Given the description of an element on the screen output the (x, y) to click on. 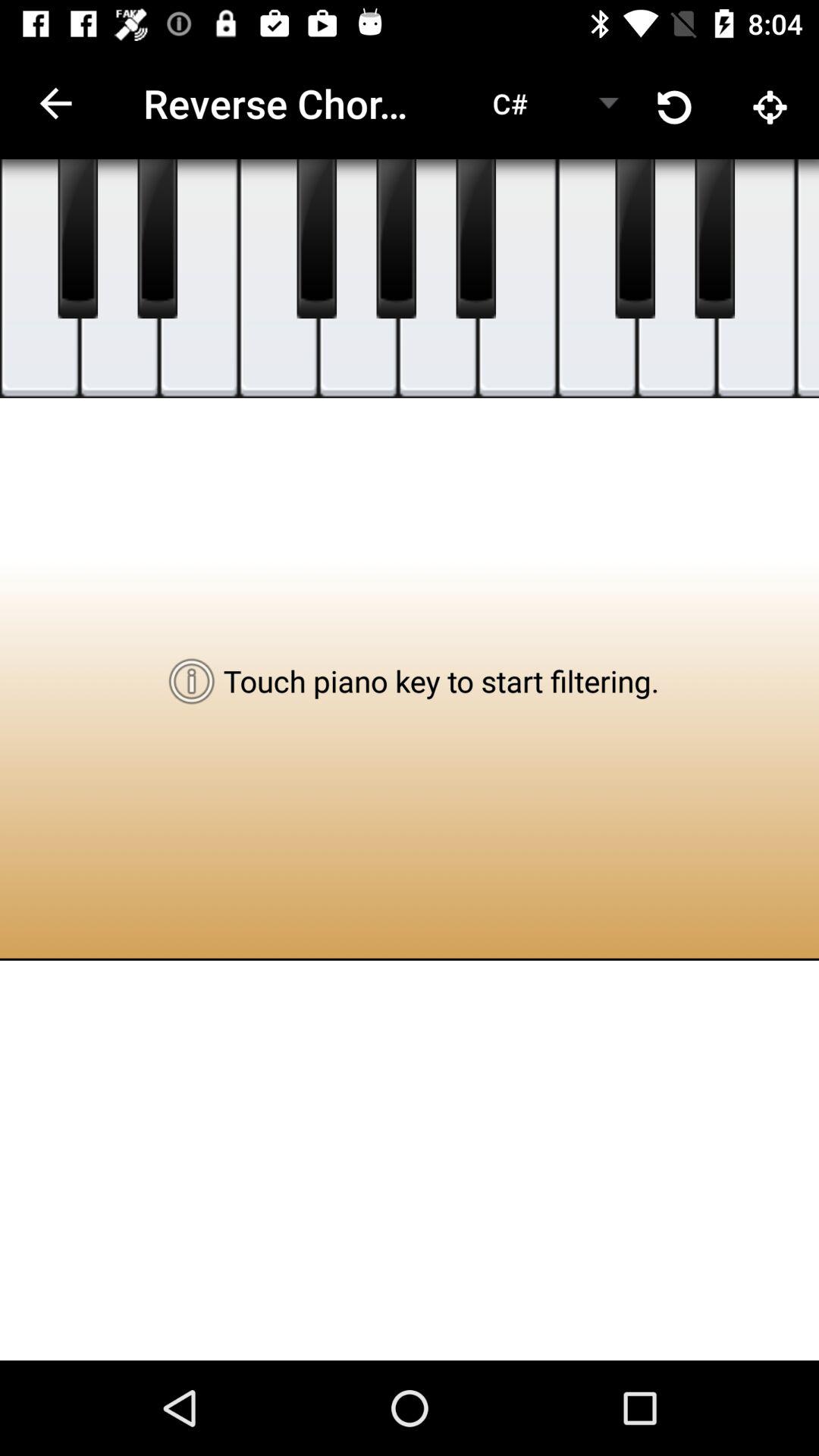
touch piano to start playing (39, 278)
